Given the description of an element on the screen output the (x, y) to click on. 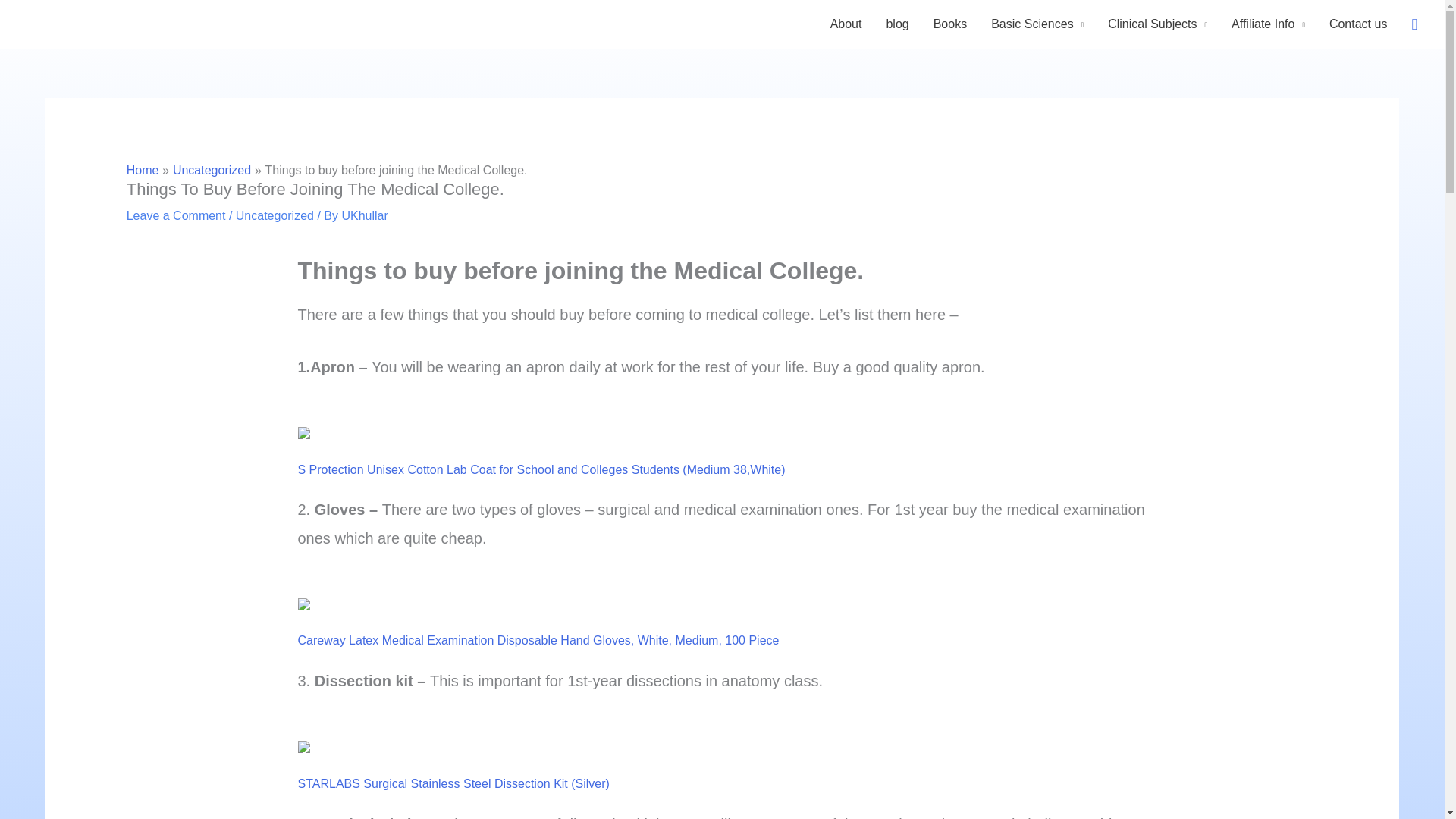
Clinical Subjects (1158, 24)
Leave a Comment (175, 215)
Home (142, 169)
About (846, 24)
UKhullar (363, 215)
Contact us (1358, 24)
Basic Sciences (1037, 24)
Uncategorized (274, 215)
View all posts by UKhullar (363, 215)
Books (949, 24)
Uncategorized (211, 169)
blog (896, 24)
Affiliate Info (1268, 24)
